Given the description of an element on the screen output the (x, y) to click on. 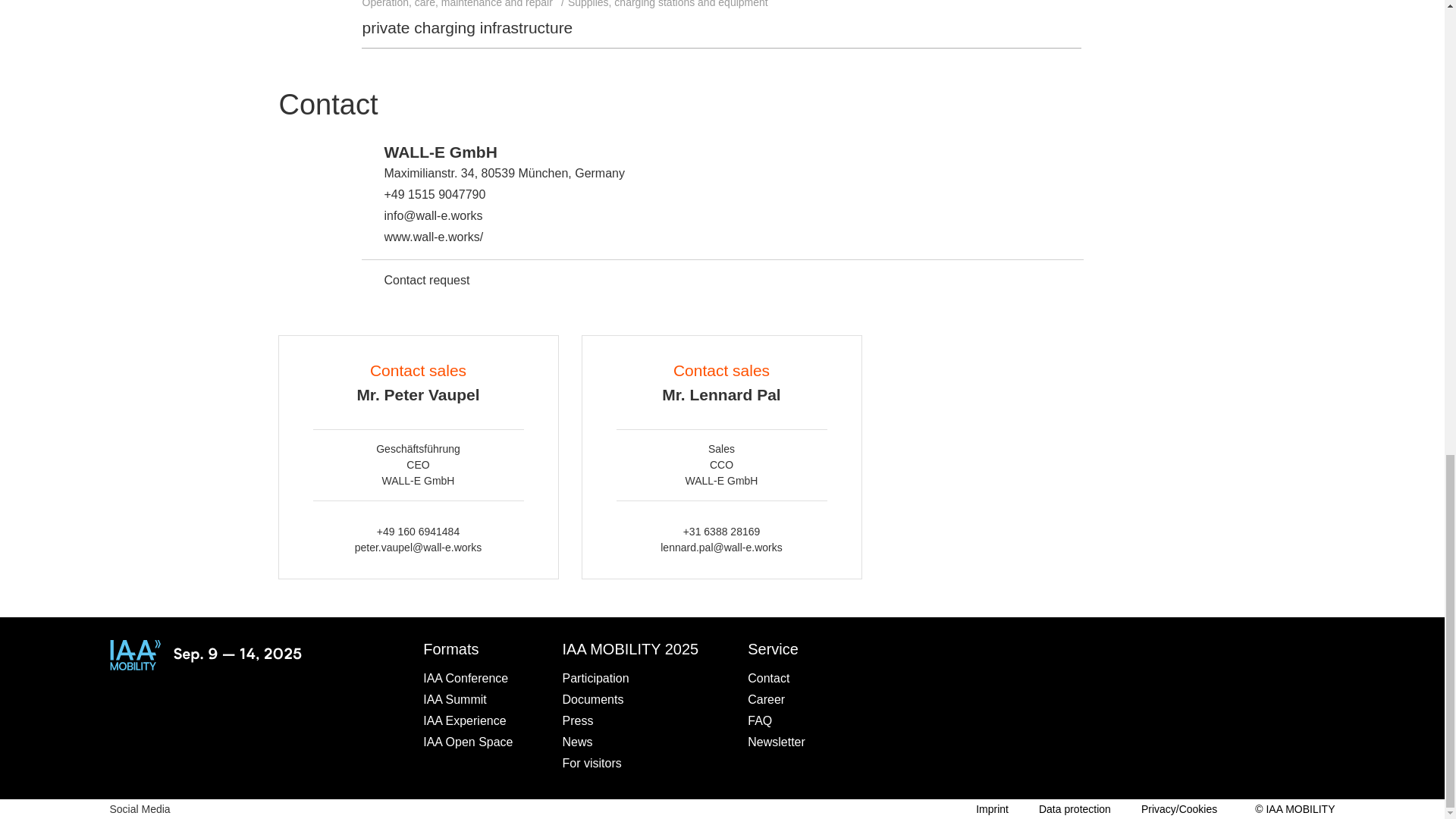
private charging infrastructure (467, 27)
Operation, care, maintenance and repair (464, 5)
Supplies, charging stations and equipment (675, 5)
